Given the description of an element on the screen output the (x, y) to click on. 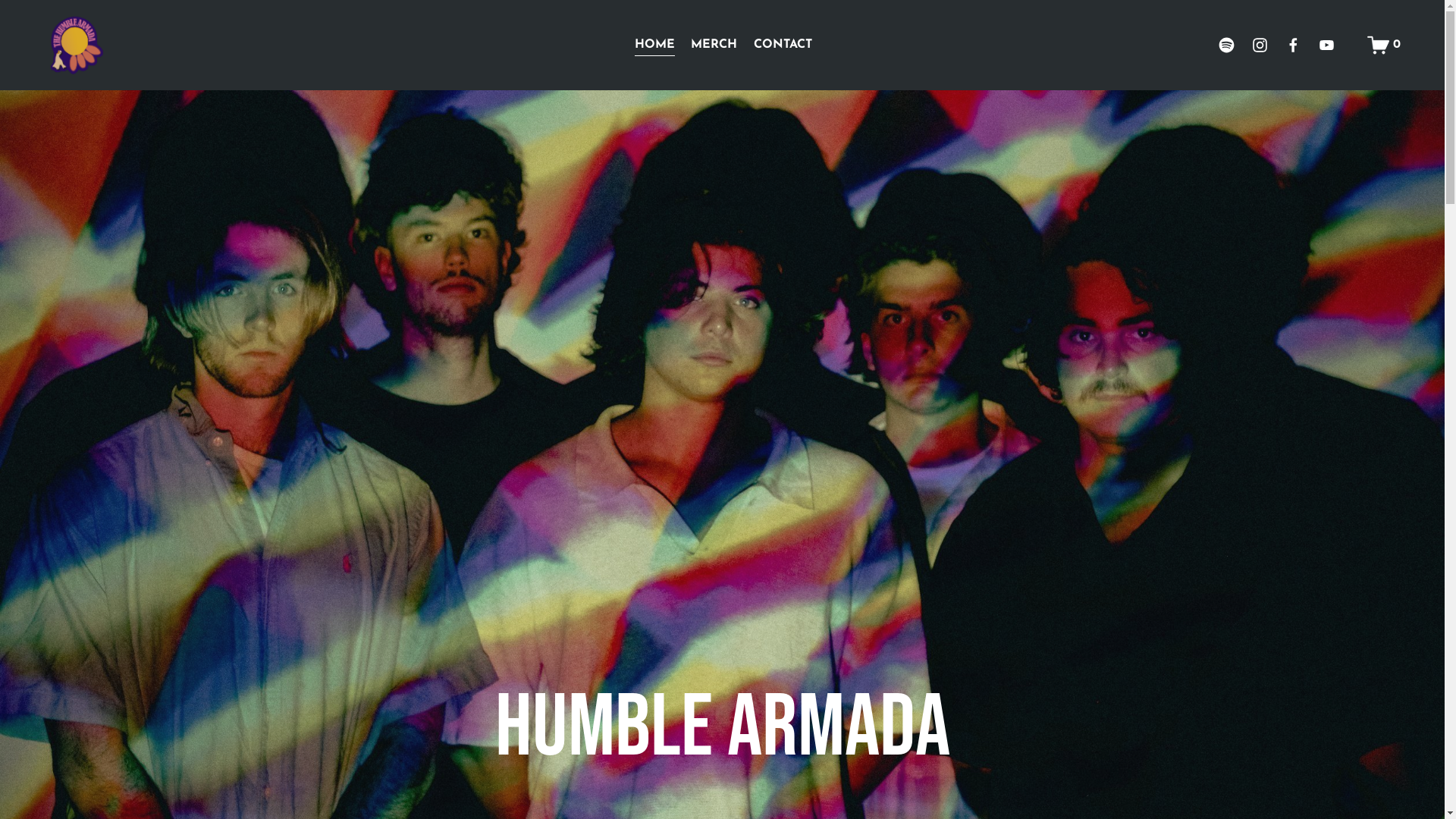
0 Element type: text (1383, 45)
HOME Element type: text (654, 45)
MERCH Element type: text (713, 45)
CONTACT Element type: text (782, 45)
